Given the description of an element on the screen output the (x, y) to click on. 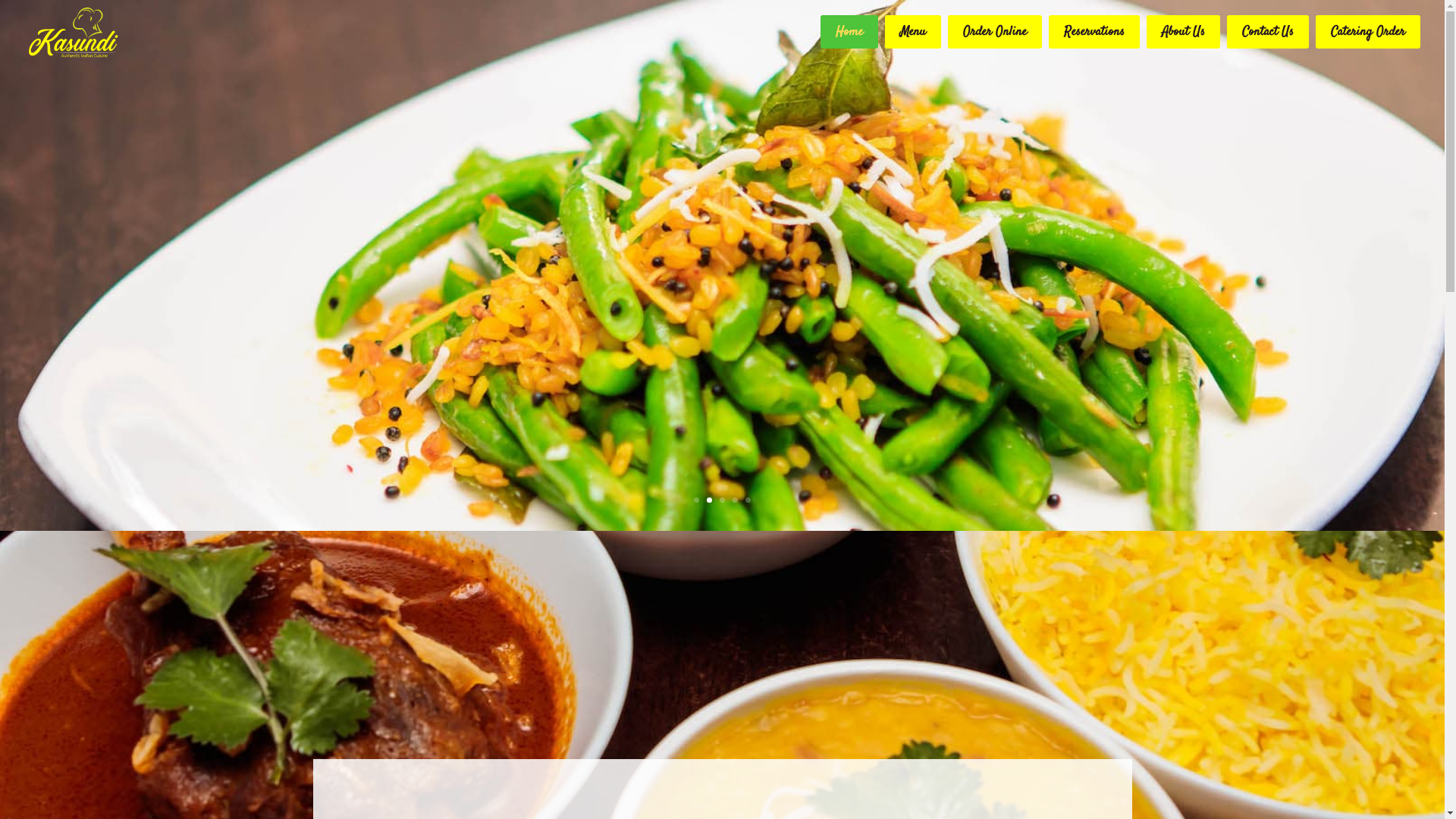
2 Element type: text (709, 499)
Contact Us Element type: text (1267, 31)
About Us Element type: text (1183, 31)
Menu Element type: text (912, 31)
4 Element type: text (734, 499)
5 Element type: text (747, 499)
3 Element type: text (721, 499)
Order Online Element type: text (994, 31)
1 Element type: text (696, 499)
Home Element type: text (849, 31)
Catering Order Element type: text (1367, 31)
Reservations Element type: text (1093, 31)
